Given the description of an element on the screen output the (x, y) to click on. 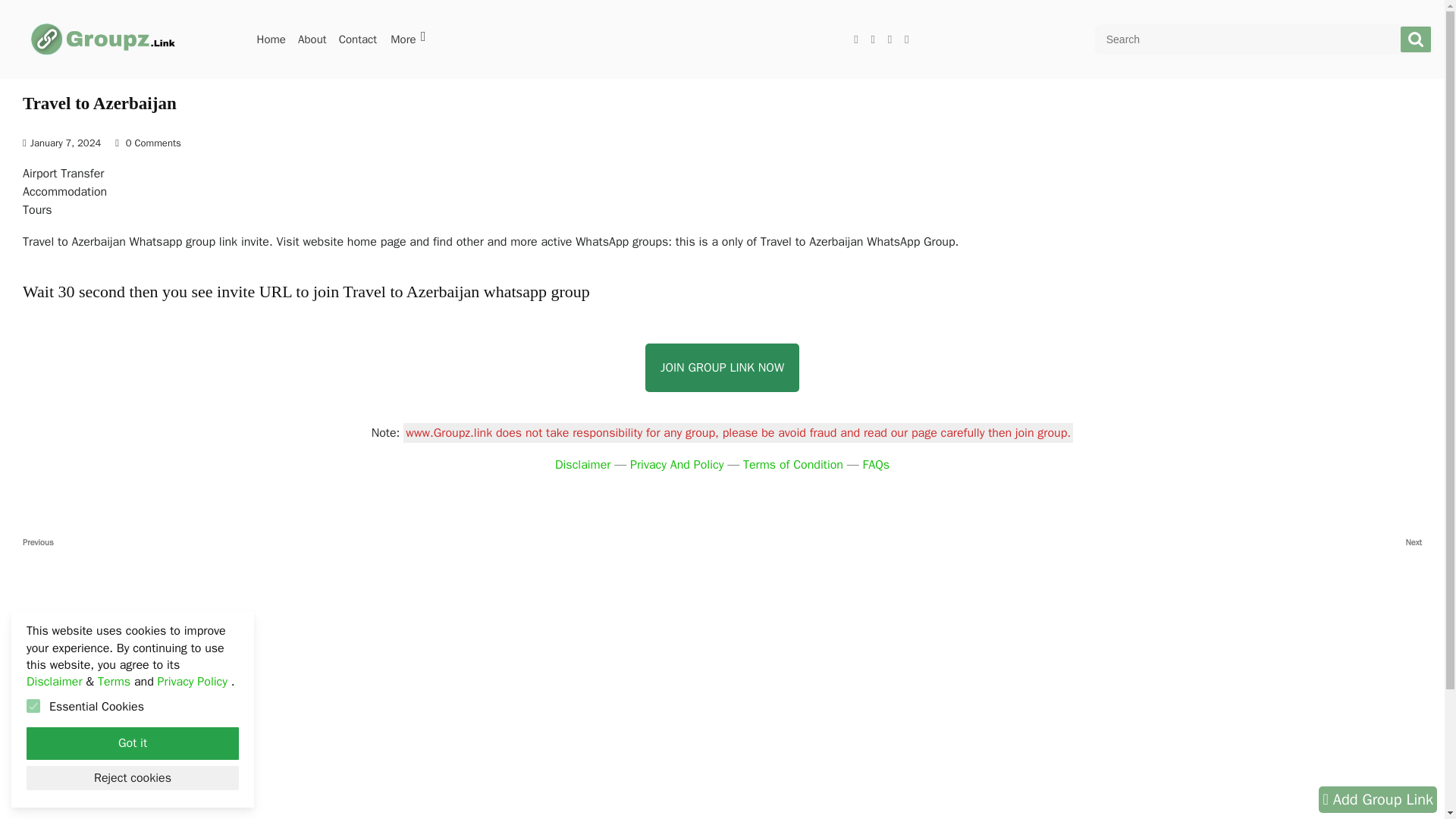
Search (1415, 39)
Add Group Link (1378, 799)
FAQs (876, 464)
Contact (357, 39)
Reject cookies (132, 777)
Got it (132, 743)
Disclaimer (53, 681)
Terms (114, 681)
Home (1072, 542)
Disclaimer (270, 39)
Privacy And Policy (582, 464)
Add Group Link (372, 542)
More (676, 464)
